Given the description of an element on the screen output the (x, y) to click on. 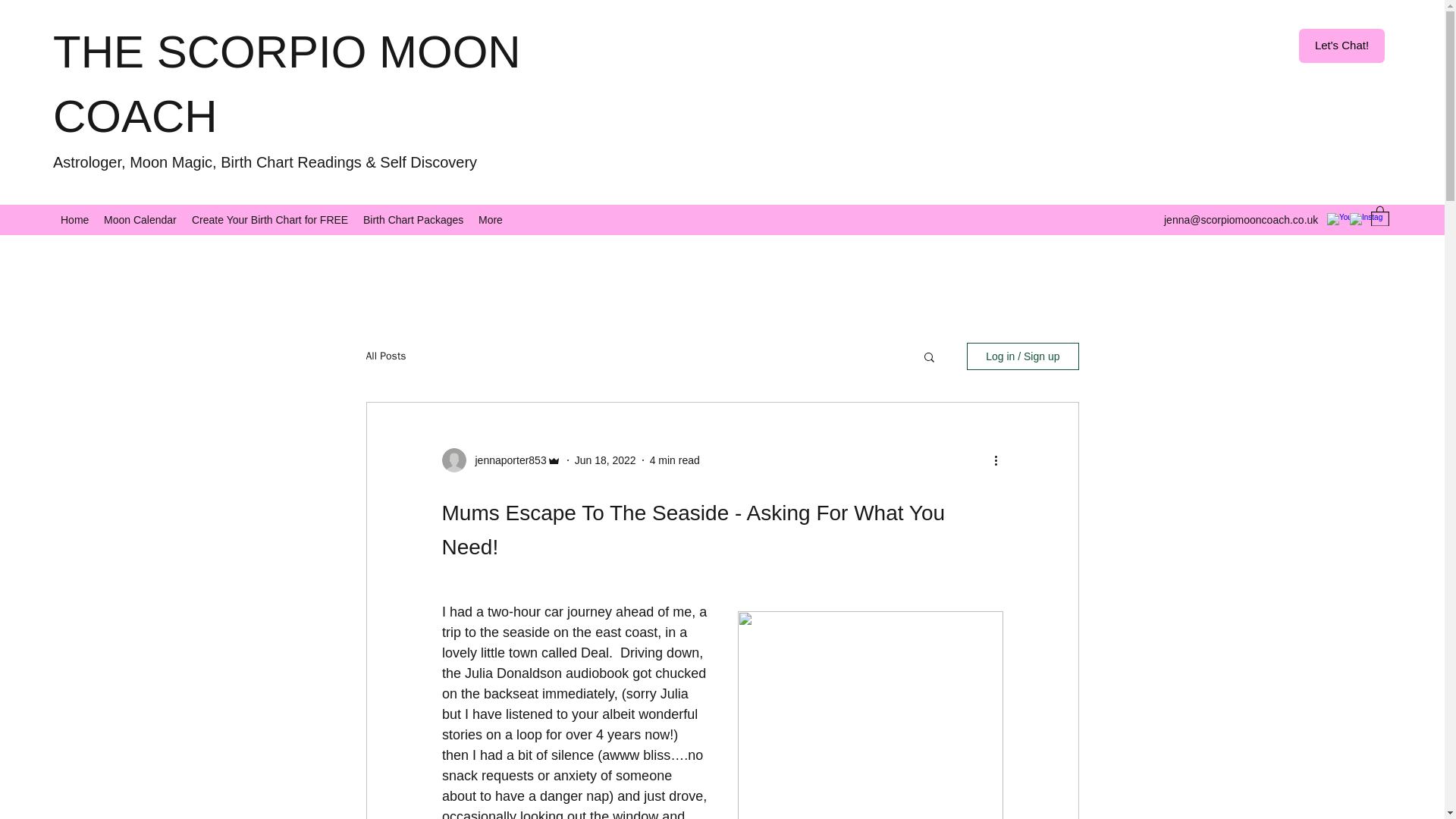
Create Your Birth Chart for FREE (269, 219)
Moon Calendar (140, 219)
Let's Chat! (1341, 45)
4 min read (674, 460)
Birth Chart Packages (412, 219)
All Posts (385, 356)
Home (74, 219)
jennaporter853 (505, 460)
Jun 18, 2022 (605, 460)
THE SCORPIO MOON COACH (286, 83)
